Given the description of an element on the screen output the (x, y) to click on. 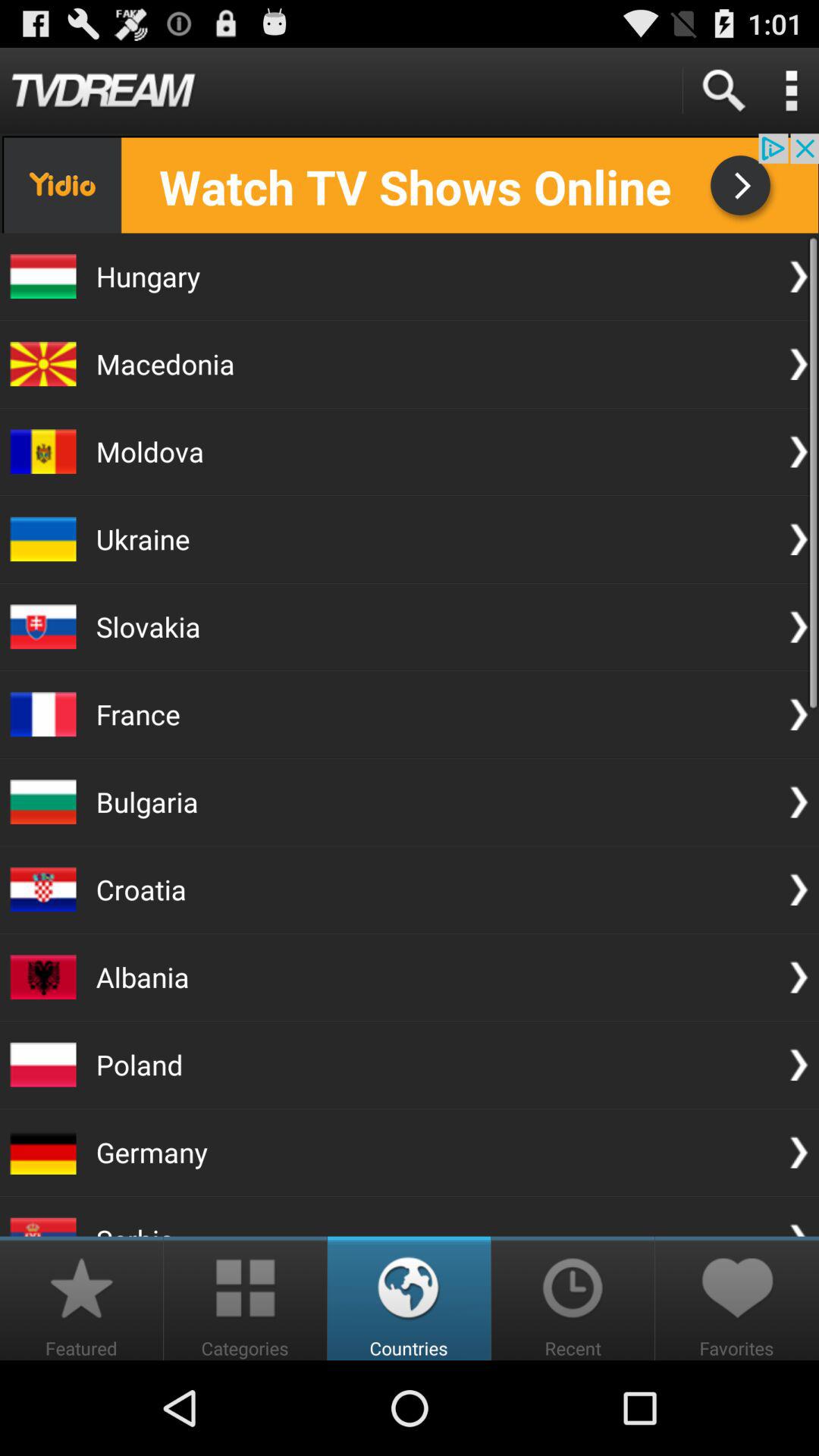
install app (409, 183)
